Given the description of an element on the screen output the (x, y) to click on. 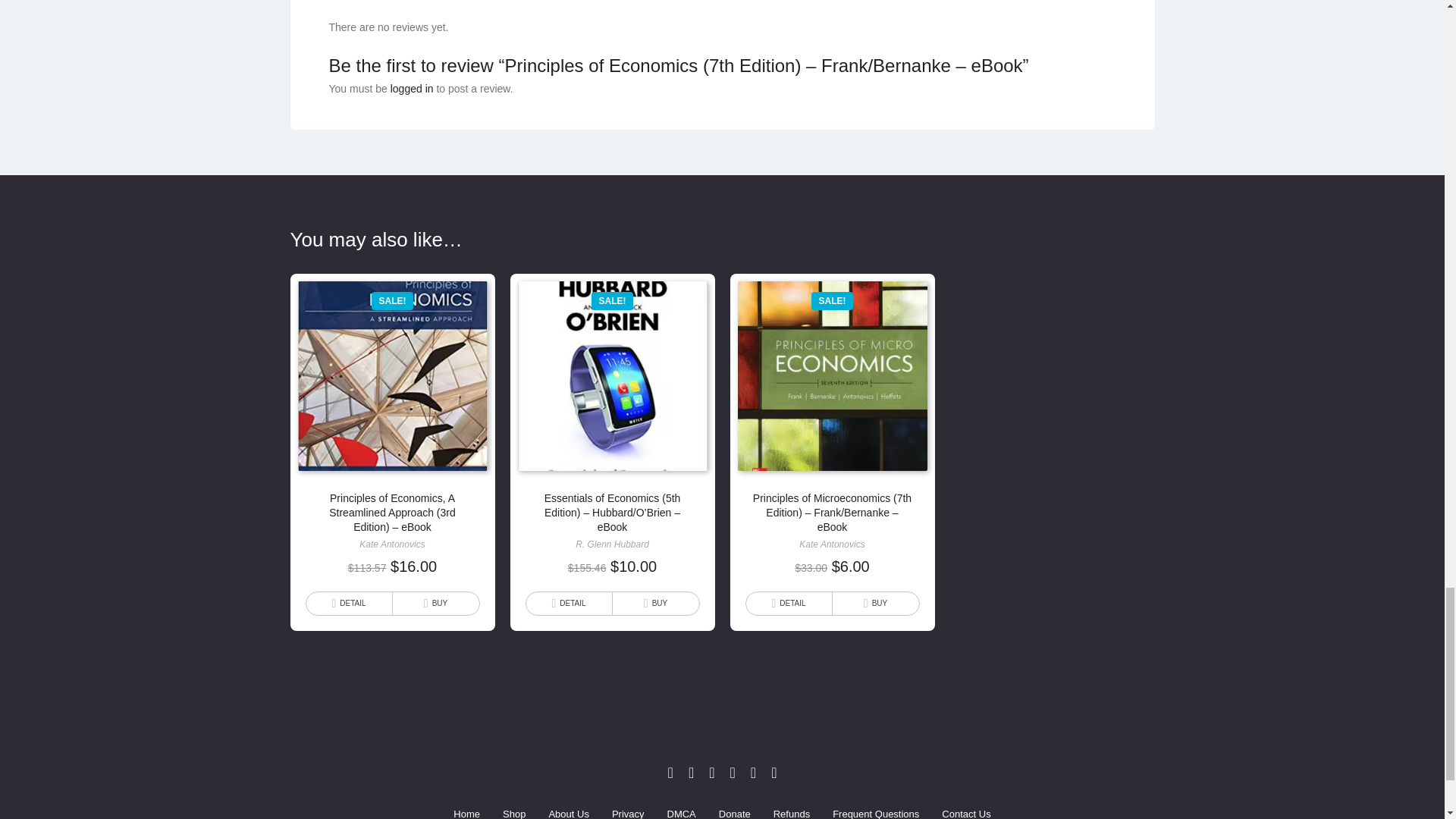
DETAIL (568, 603)
BUY (875, 603)
DETAIL (349, 603)
logged in (411, 88)
DETAIL (788, 603)
BUY (436, 603)
BUY (655, 603)
